Given the description of an element on the screen output the (x, y) to click on. 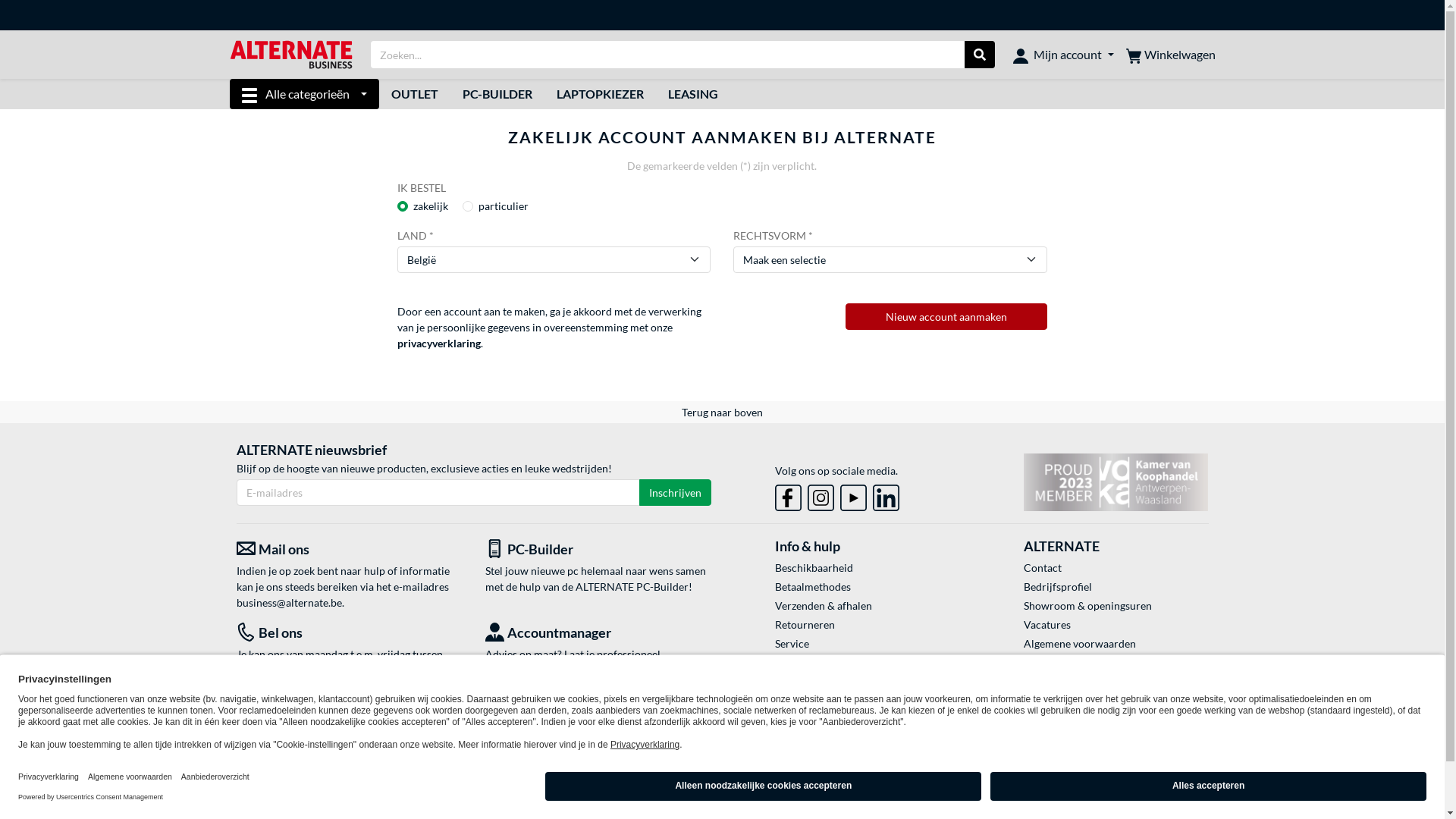
Zoeken... Element type: hover (979, 54)
business@alternate.be Element type: text (289, 602)
Gebruikersvoorwaarden Element type: text (1115, 662)
03 871 11 00 Element type: text (267, 685)
Contact Element type: text (1115, 567)
Beschikbaarheid Element type: text (867, 567)
Bedrijfsprofiel Element type: text (1115, 586)
Winkelwagen Element type: text (1169, 54)
Vacatures Element type: text (1115, 624)
Bel ons Element type: text (349, 632)
Service Element type: text (867, 643)
Accountmanager Element type: text (598, 632)
PC-BUILDER Element type: text (497, 93)
Mijn account Element type: text (1063, 54)
Instagram Element type: hover (820, 494)
LAPTOPKIEZER Element type: text (599, 93)
Instagram Element type: hover (820, 497)
Google Element type: hover (1032, 781)
Mail ons Element type: text (349, 549)
privacyverklaring Element type: text (438, 342)
PC-Builder Element type: text (598, 549)
Tweakers Element type: hover (618, 781)
Leasing Element type: text (867, 681)
YouTube Element type: hover (853, 494)
Algemene voorwaarden Element type: text (1115, 643)
Inschrijven Element type: text (674, 492)
Facebook Element type: hover (788, 497)
Linkedin Element type: hover (885, 494)
Cookie-instellingen Element type: text (1115, 700)
LEASING Element type: text (692, 93)
Nieuw account aanmaken Element type: text (946, 316)
Facebook Element type: hover (788, 494)
Terug naar boven Element type: text (721, 411)
Trustpilot Element type: hover (410, 781)
Showroom & openingsuren Element type: text (1115, 605)
Betaalmethodes Element type: text (867, 586)
YouTube Element type: hover (853, 497)
Linkedin Element type: hover (885, 497)
OUTLET Element type: text (414, 93)
Business Element type: text (867, 662)
Hardware Info Element type: hover (825, 781)
Verzenden & afhalen Element type: text (867, 605)
Retourneren Element type: text (867, 624)
Privacyverklaring Element type: text (1115, 681)
Voka Element type: hover (1115, 482)
